Given the description of an element on the screen output the (x, y) to click on. 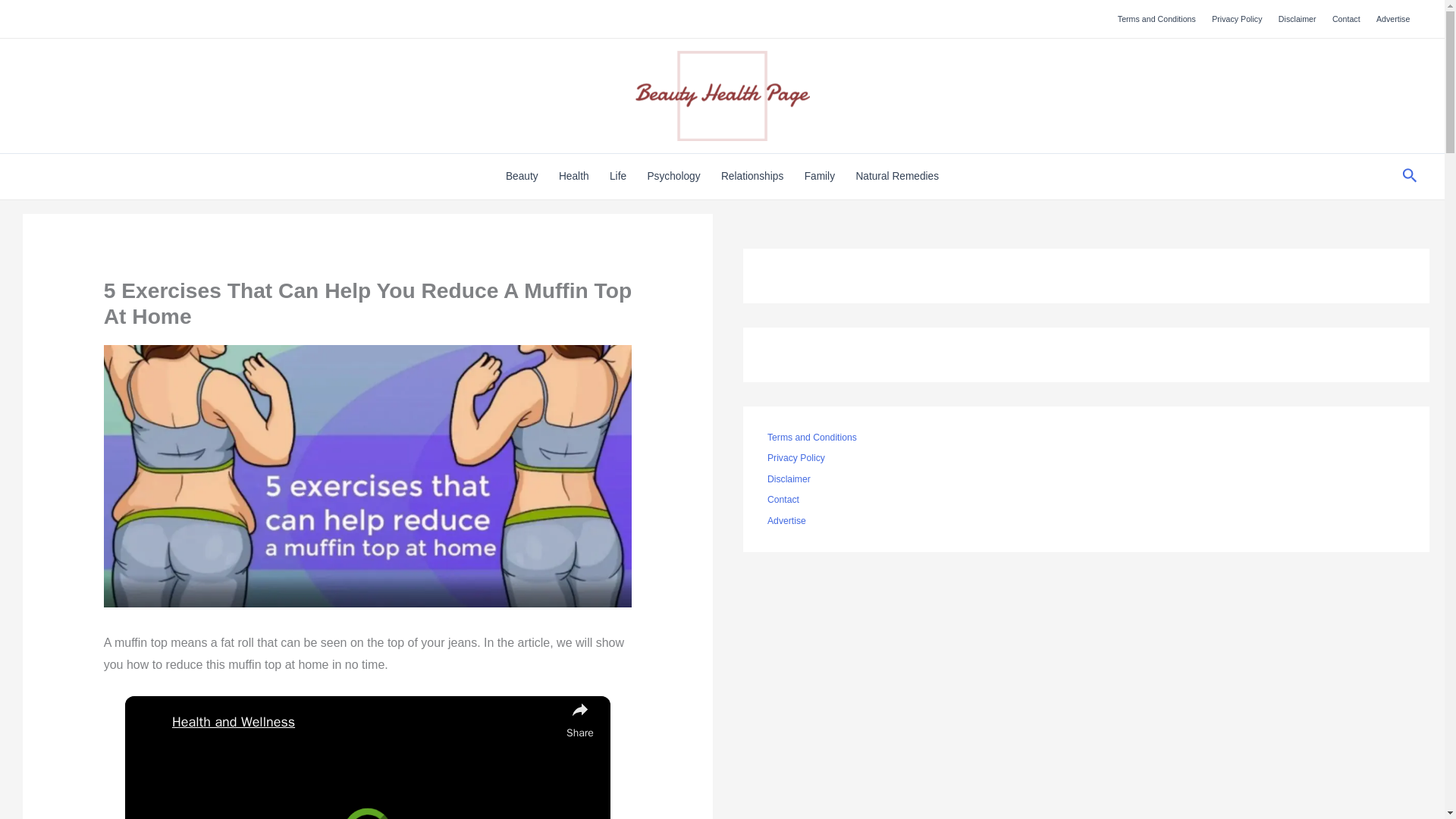
Natural Remedies (897, 176)
Disclaimer (1296, 18)
Health and Wellness (365, 722)
Relationships (751, 176)
Psychology (673, 176)
Family (819, 176)
Beauty (521, 176)
Advertise (1393, 18)
Privacy Policy (1237, 18)
Contact (1345, 18)
